Given the description of an element on the screen output the (x, y) to click on. 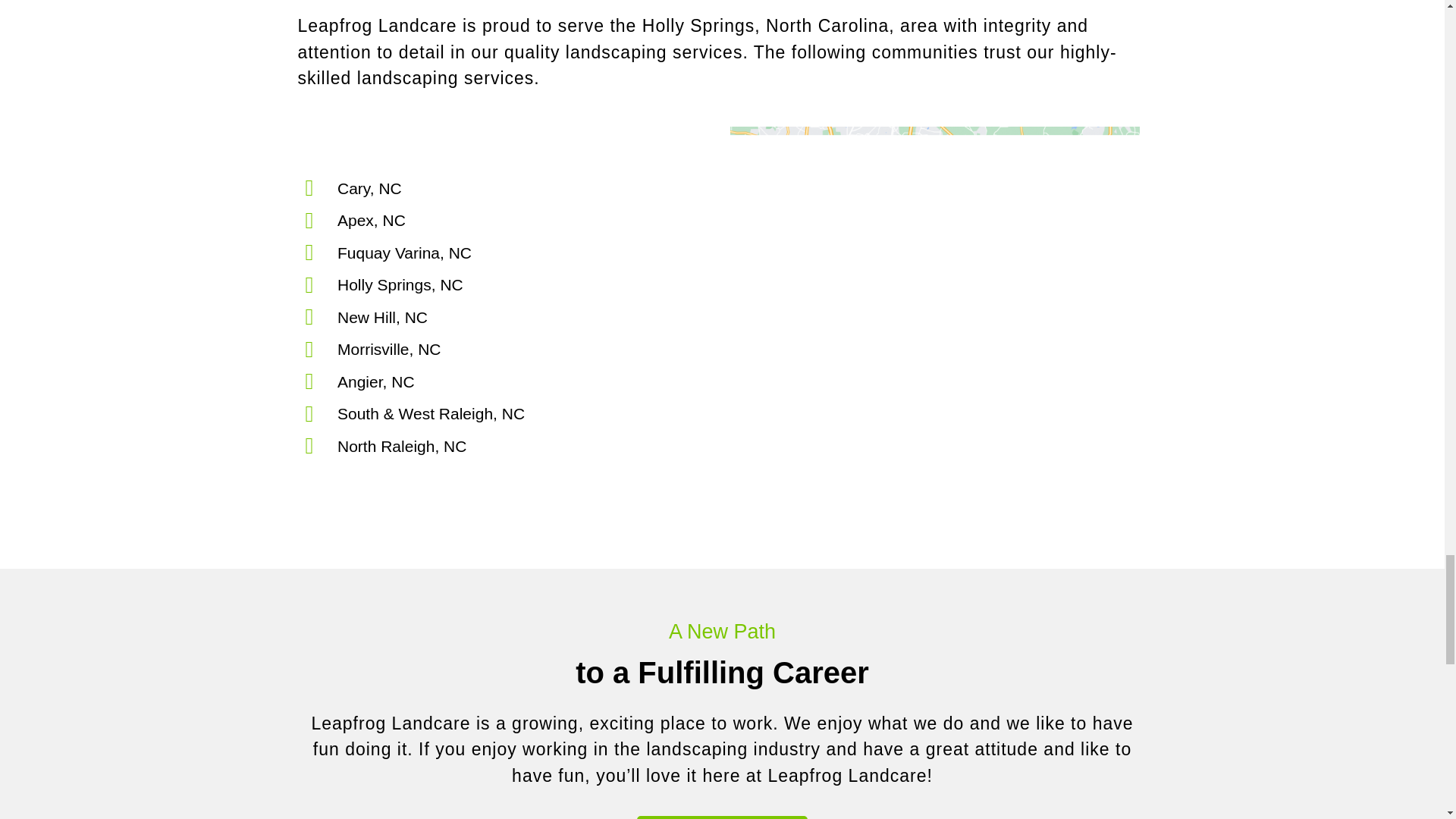
Cary, NC (509, 188)
